Given the description of an element on the screen output the (x, y) to click on. 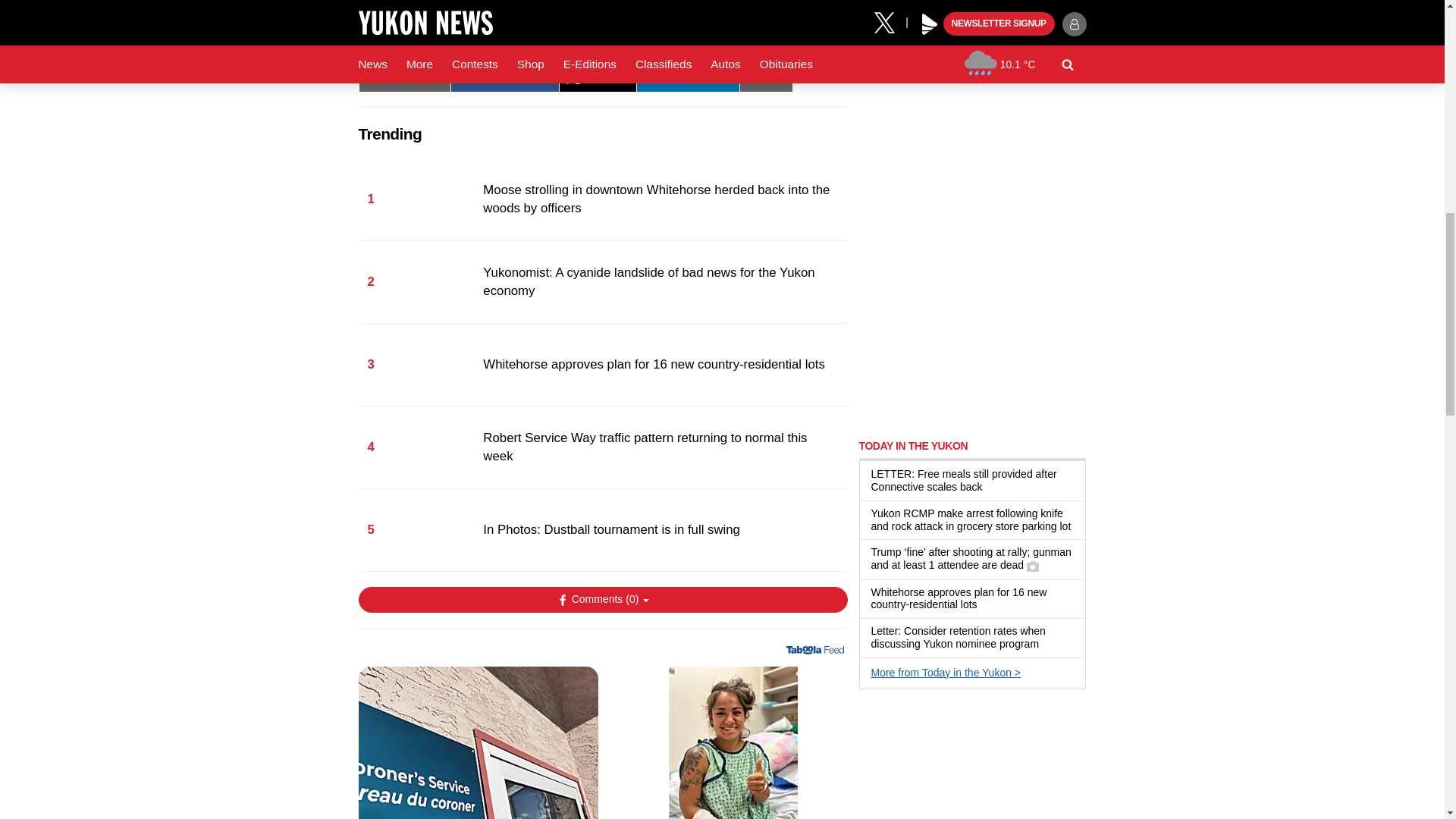
Show Comments (602, 599)
